Given the description of an element on the screen output the (x, y) to click on. 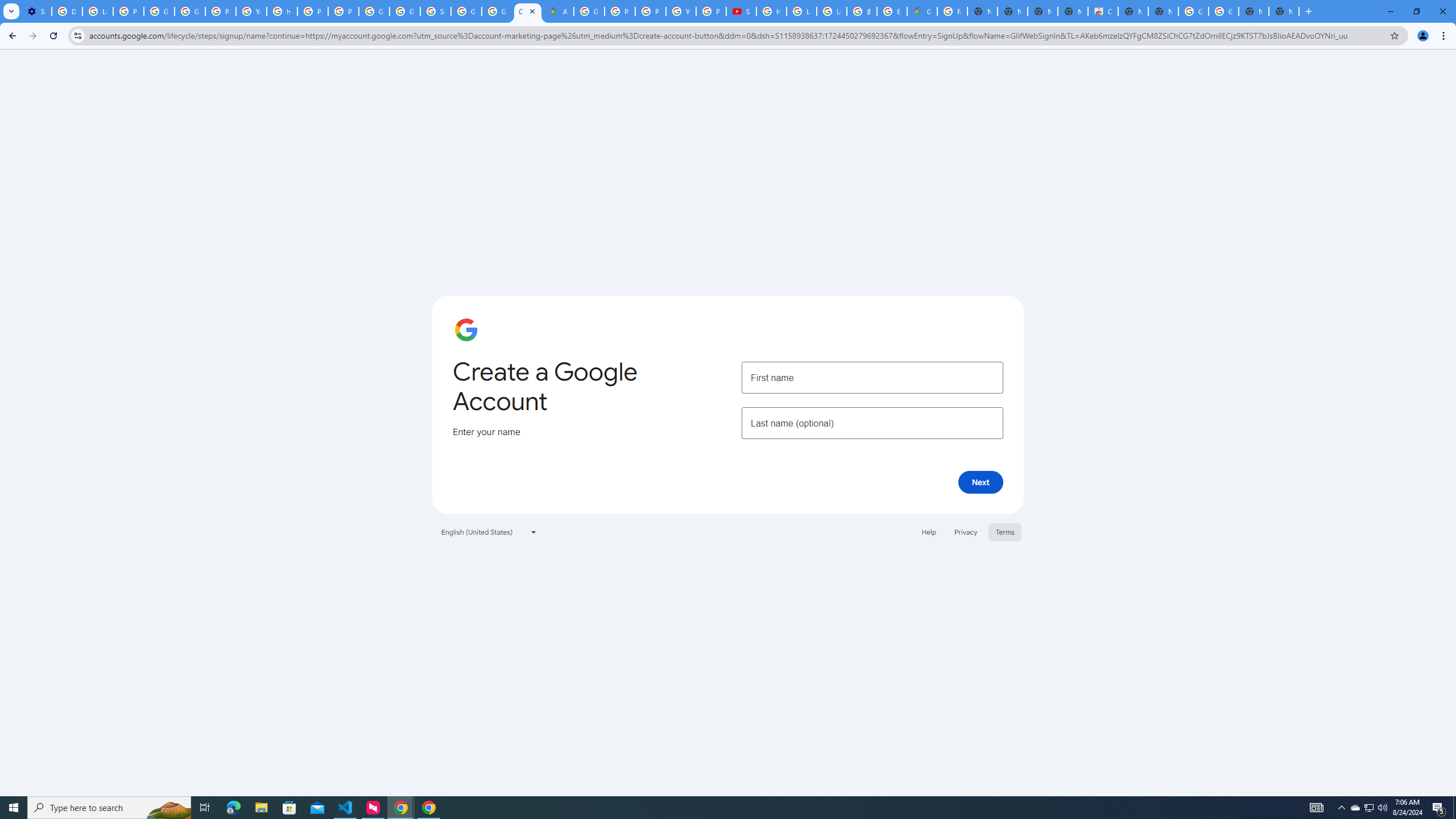
YouTube (681, 11)
Sign in - Google Accounts (434, 11)
Google Account Help (158, 11)
Google Images (1223, 11)
Delete photos & videos - Computer - Google Photos Help (66, 11)
